Given the description of an element on the screen output the (x, y) to click on. 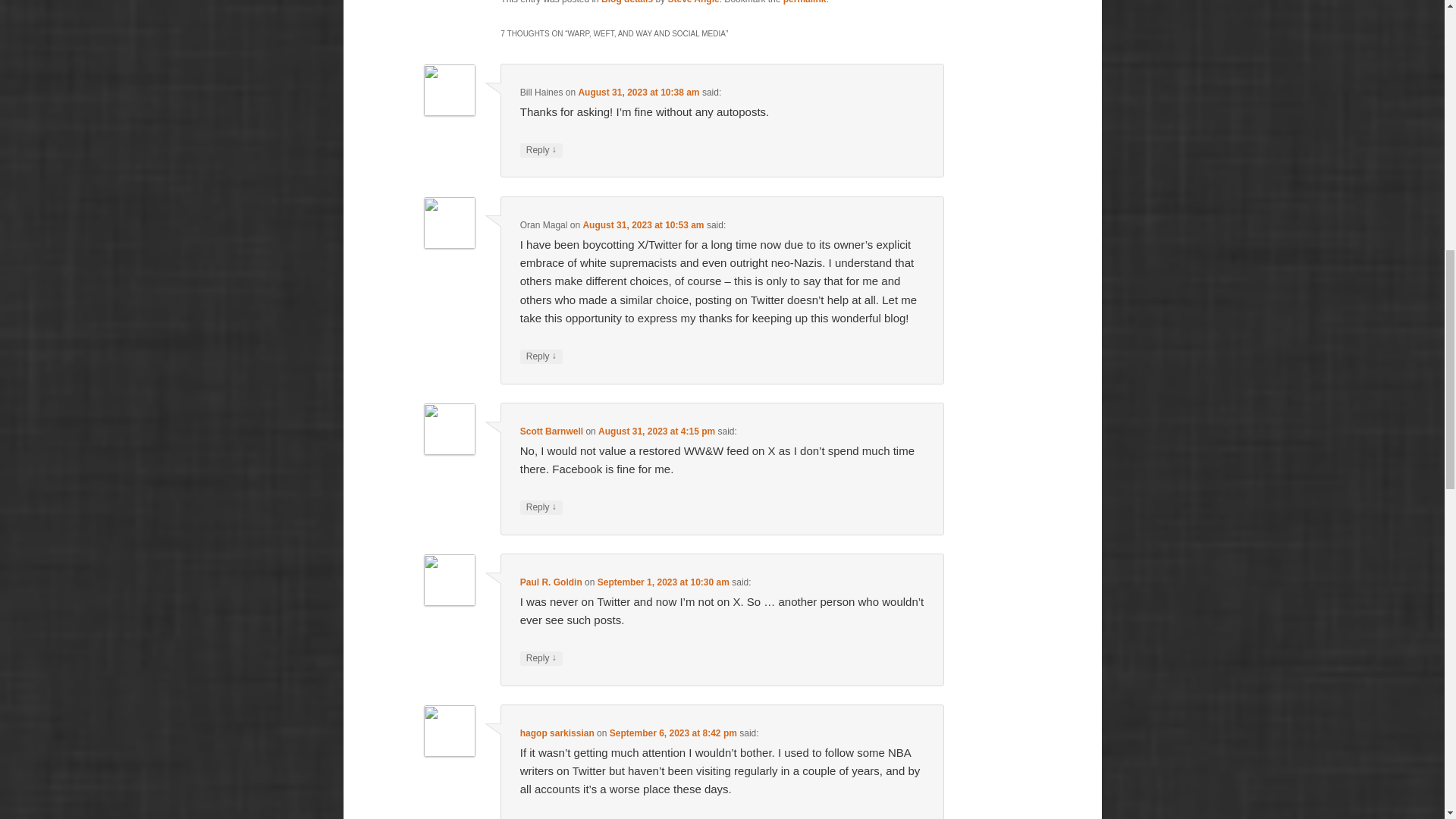
hagop sarkissian (556, 733)
August 31, 2023 at 10:38 am (638, 91)
Permalink to Warp, Weft, and Way and social media (805, 2)
September 6, 2023 at 8:42 pm (673, 733)
August 31, 2023 at 4:15 pm (656, 430)
permalink (805, 2)
August 31, 2023 at 10:53 am (642, 225)
Steve Angle (692, 2)
September 1, 2023 at 10:30 am (662, 582)
Blog details (626, 2)
Paul R. Goldin (550, 582)
Scott Barnwell (551, 430)
